Given the description of an element on the screen output the (x, y) to click on. 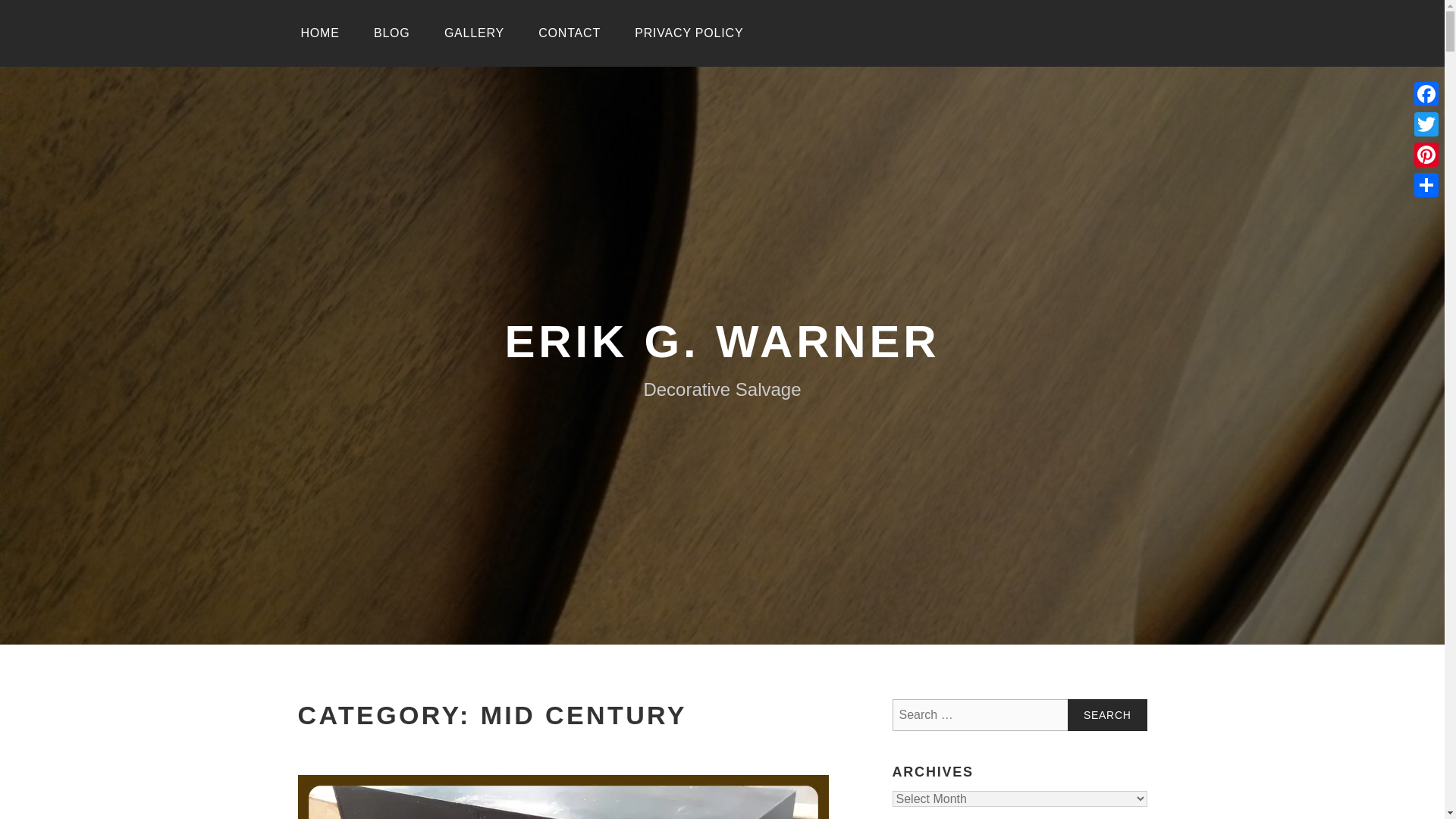
GALLERY (474, 33)
Pinterest (1425, 154)
Search (1107, 715)
Facebook (1425, 93)
ERIK G. WARNER (722, 341)
BLOG (391, 33)
Twitter (1425, 123)
HOME (319, 33)
PRIVACY POLICY (689, 33)
Search (1107, 715)
CONTACT (568, 33)
